Given the description of an element on the screen output the (x, y) to click on. 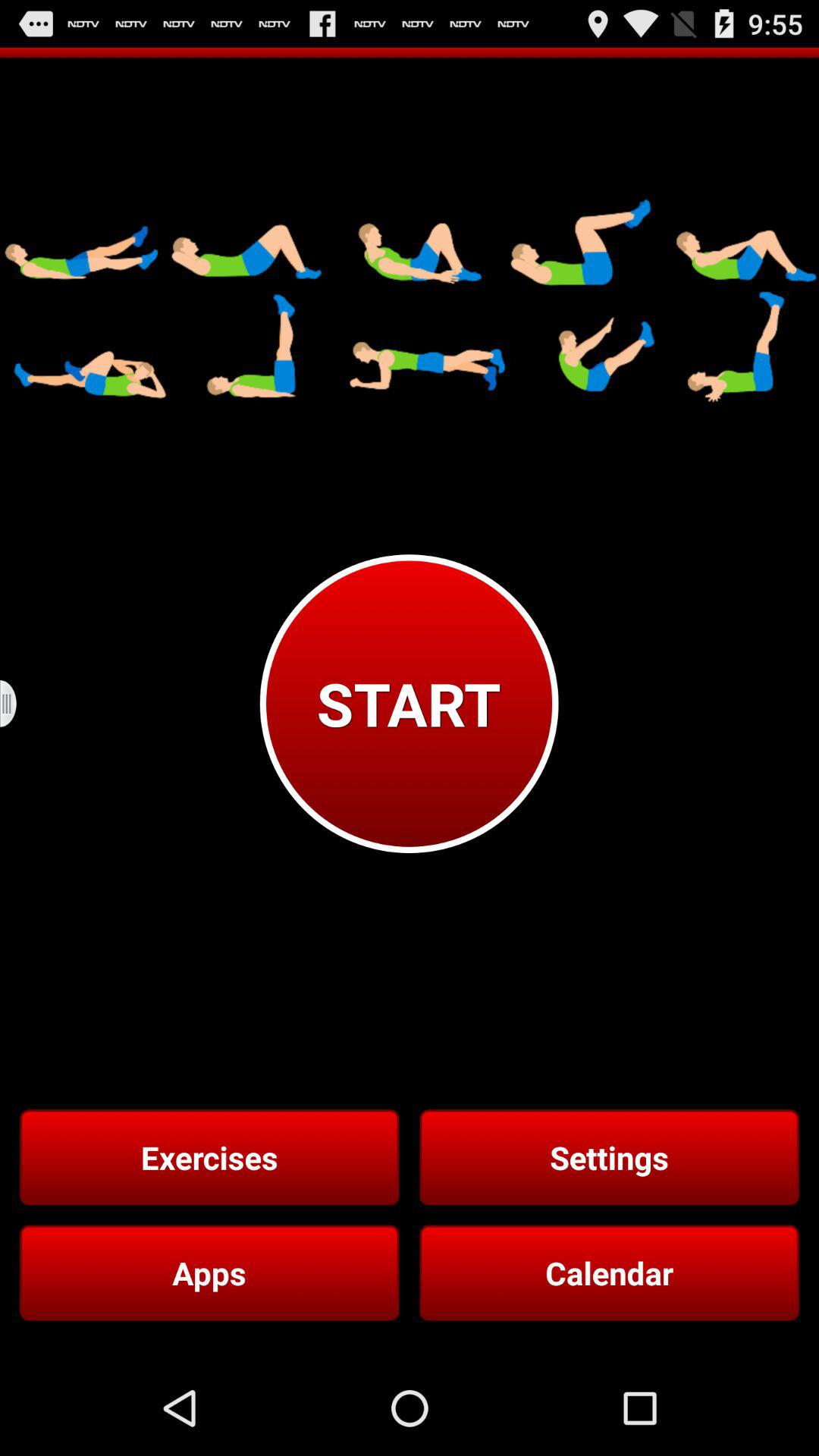
click the icon on the left (18, 703)
